Given the description of an element on the screen output the (x, y) to click on. 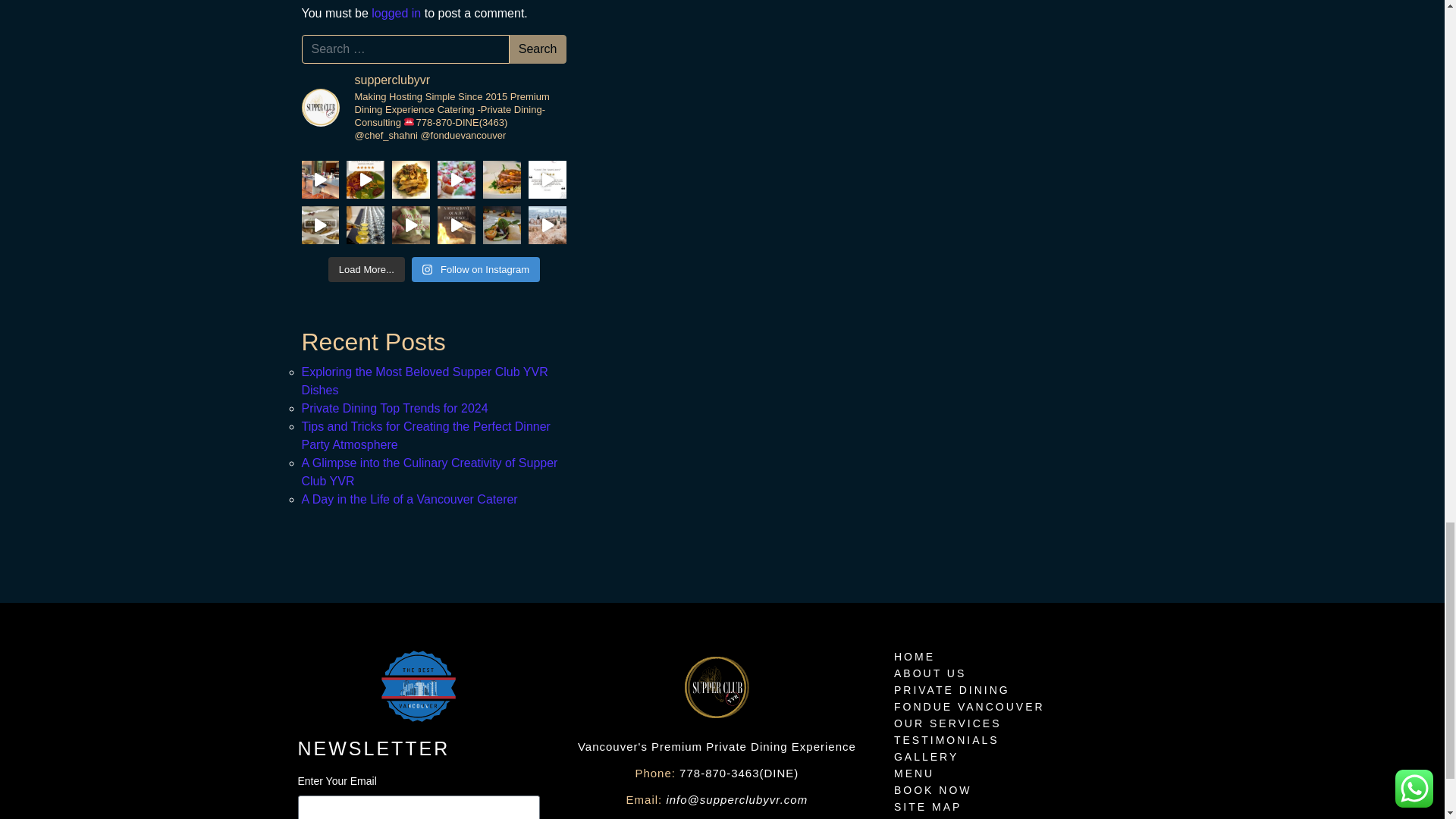
Search (537, 49)
Exploring the Most Beloved Supper Club YVR Dishes (424, 380)
A Glimpse into the Culinary Creativity of Supper Club YVR (429, 471)
logged in (395, 12)
Search (537, 49)
Vancouver (418, 685)
Private Dining Top Trends for 2024 (394, 408)
Follow on Instagram (476, 269)
Load More... (366, 269)
